Given the description of an element on the screen output the (x, y) to click on. 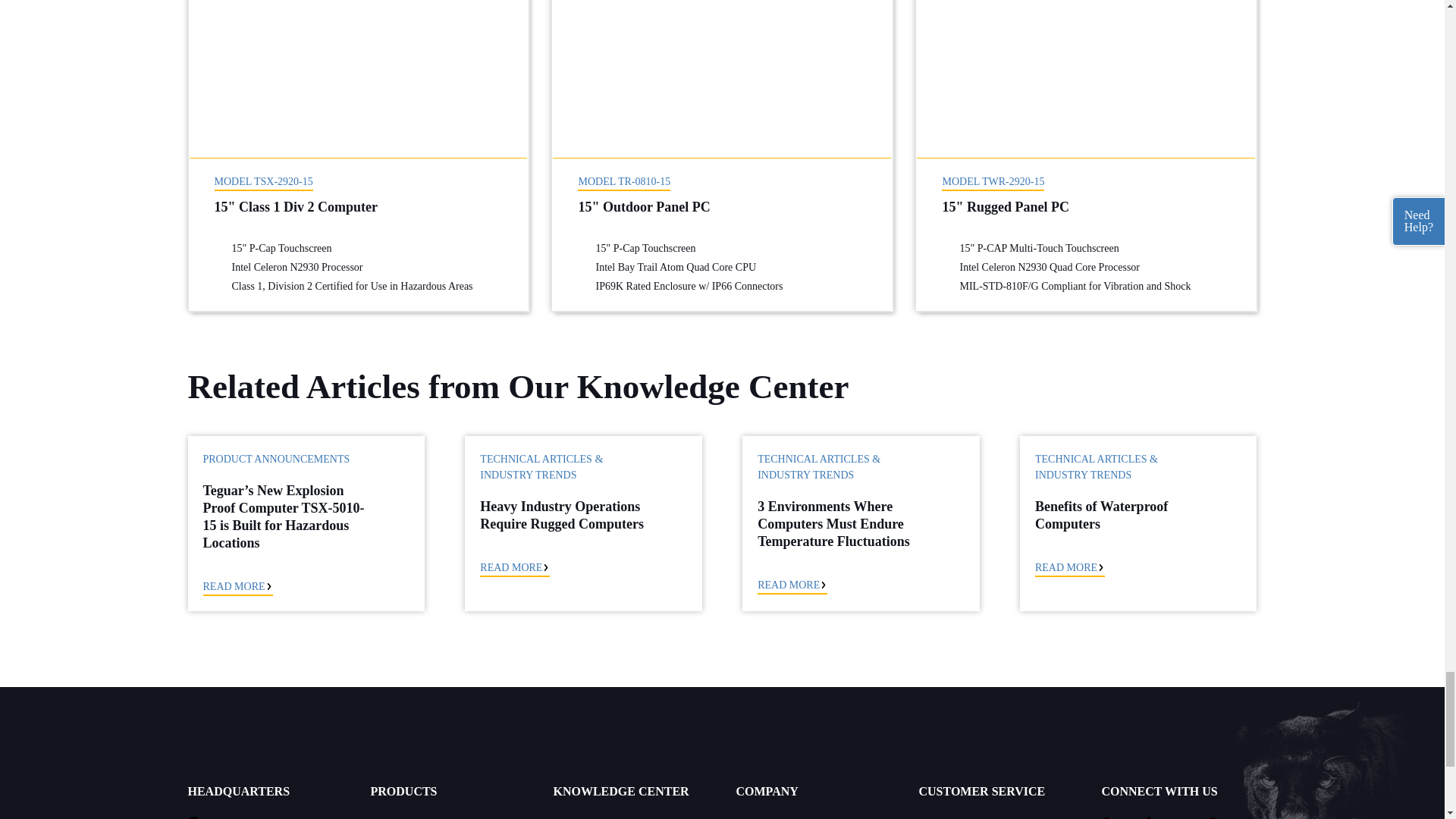
LinkedIn (1154, 817)
TEGUAR (284, 733)
